Given the description of an element on the screen output the (x, y) to click on. 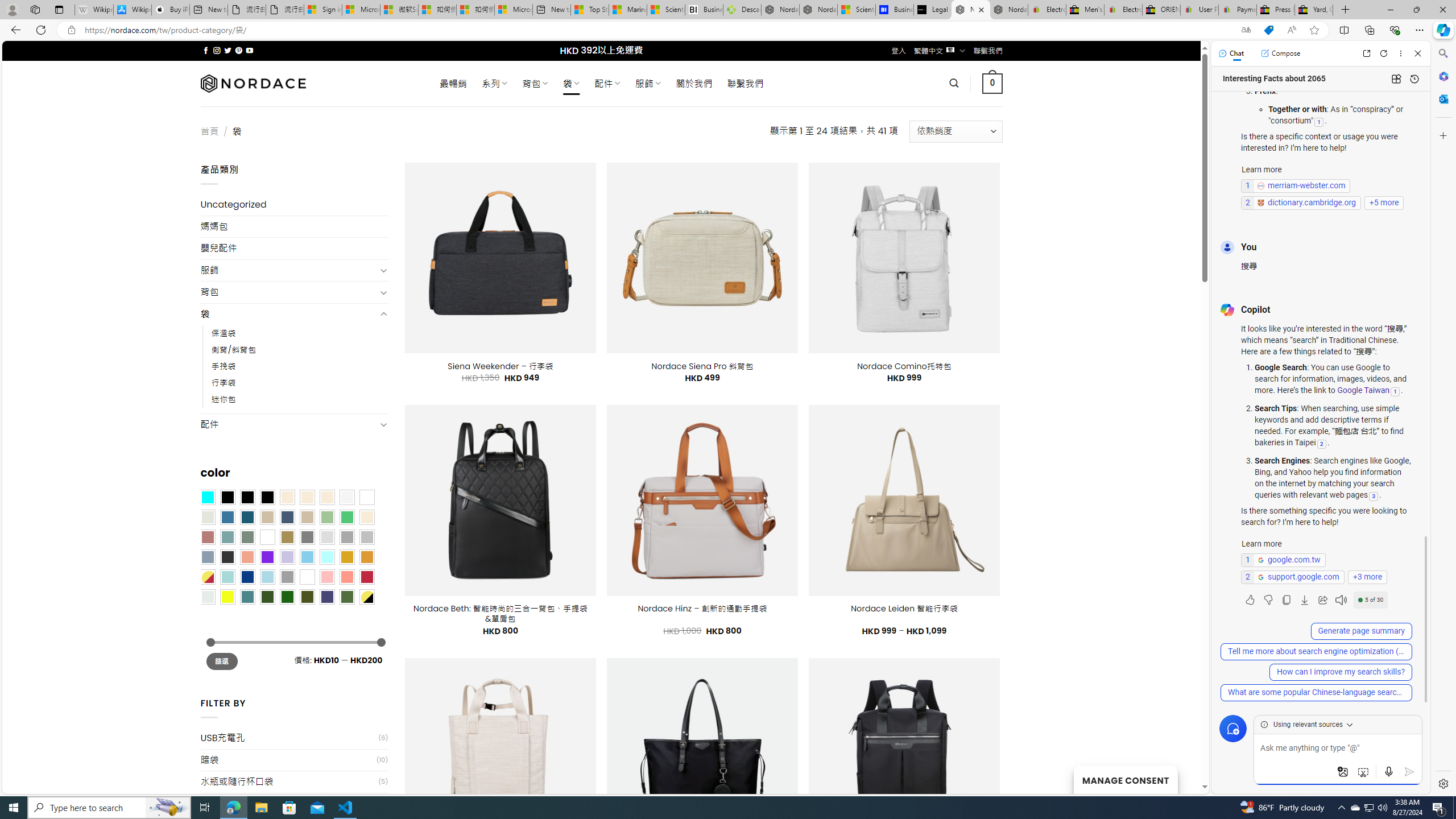
Minimize Search pane (1442, 53)
  0   (992, 83)
Press Room - eBay Inc. (1276, 9)
